Given the description of an element on the screen output the (x, y) to click on. 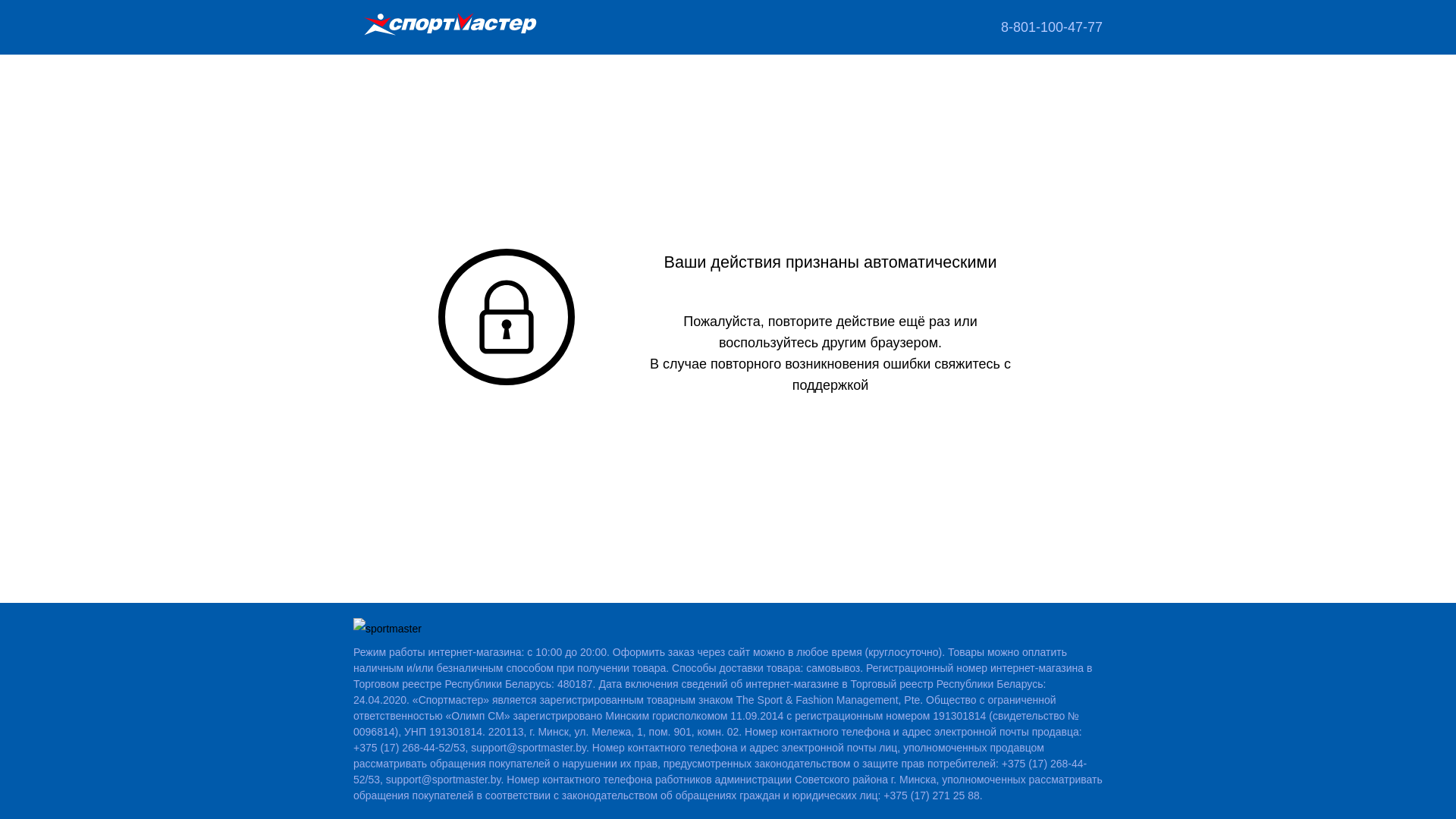
8-801-100-47-77 Element type: text (1051, 26)
